Given the description of an element on the screen output the (x, y) to click on. 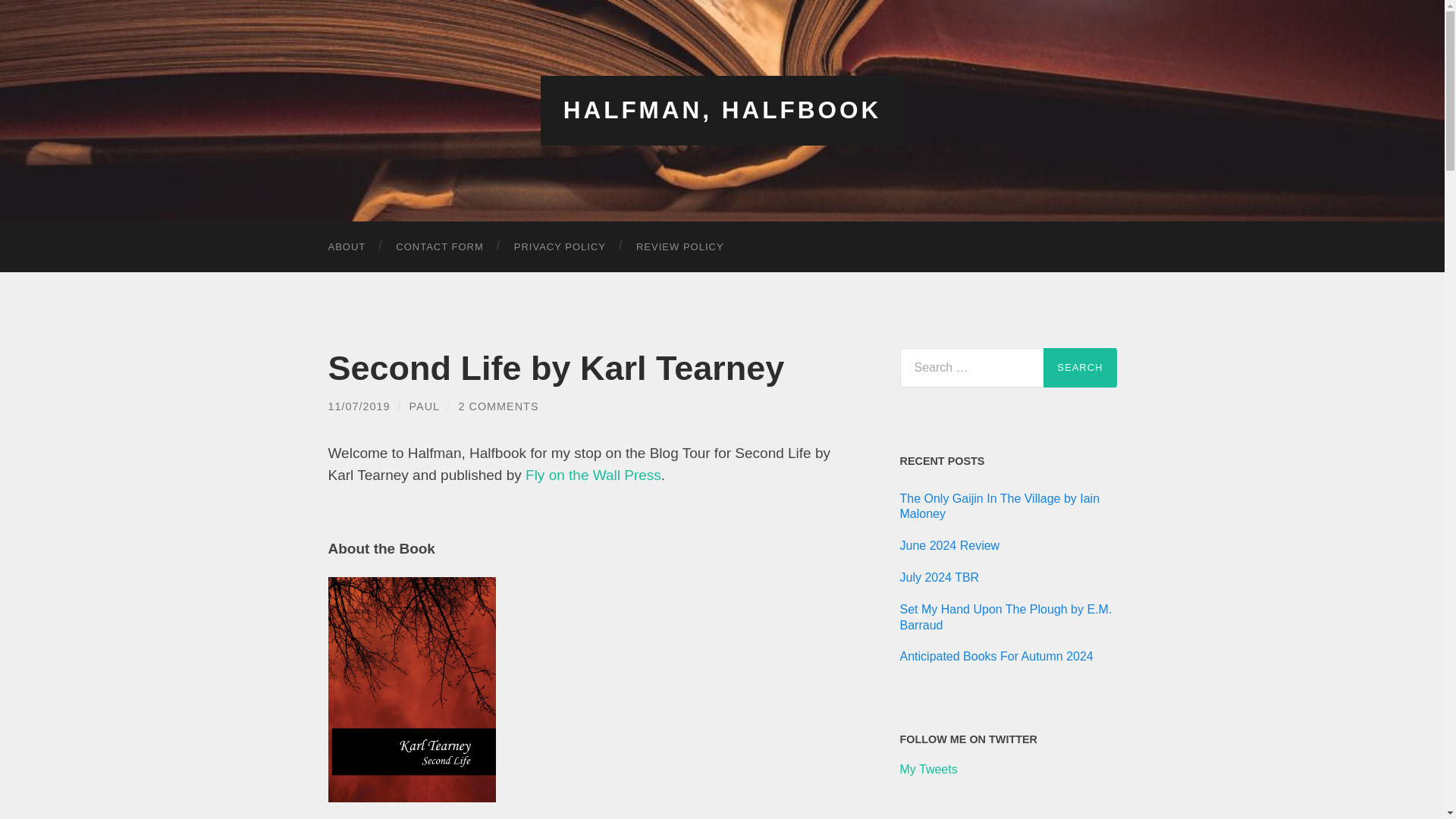
Search (1079, 366)
REVIEW POLICY (680, 246)
CONTACT FORM (439, 246)
Search (1079, 366)
Posts by Paul (424, 406)
Fly on the Wall Press (593, 474)
PRIVACY POLICY (560, 246)
HALFMAN, HALFBOOK (722, 109)
June 2024 Review (1007, 546)
PAUL (424, 406)
Search (1079, 366)
ABOUT (346, 246)
2 COMMENTS (498, 406)
The Only Gaijin In The Village by Iain Maloney (1007, 507)
